Given the description of an element on the screen output the (x, y) to click on. 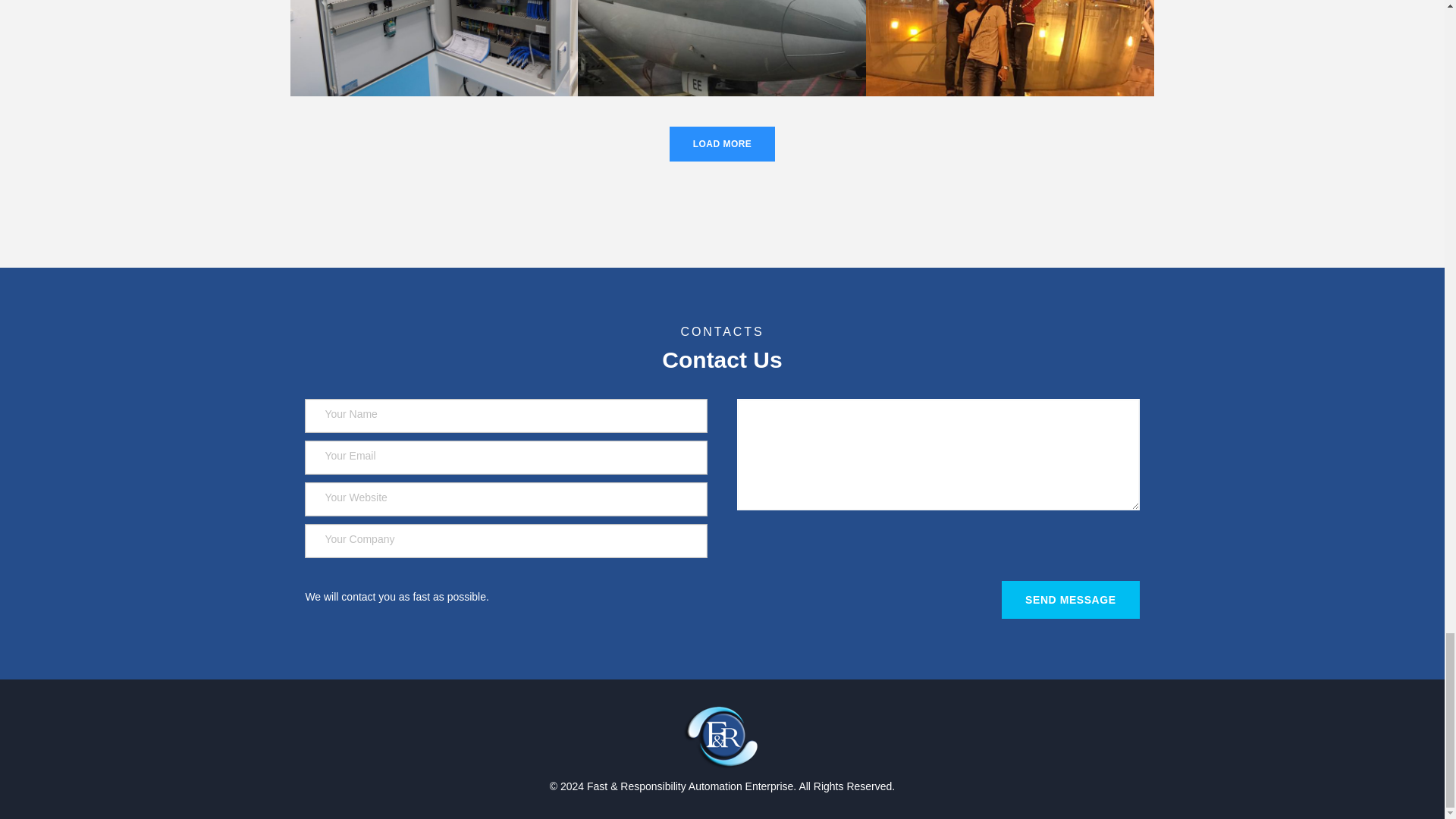
LOAD MORE (722, 143)
Send Message (1070, 599)
Send Message (1070, 599)
